Given the description of an element on the screen output the (x, y) to click on. 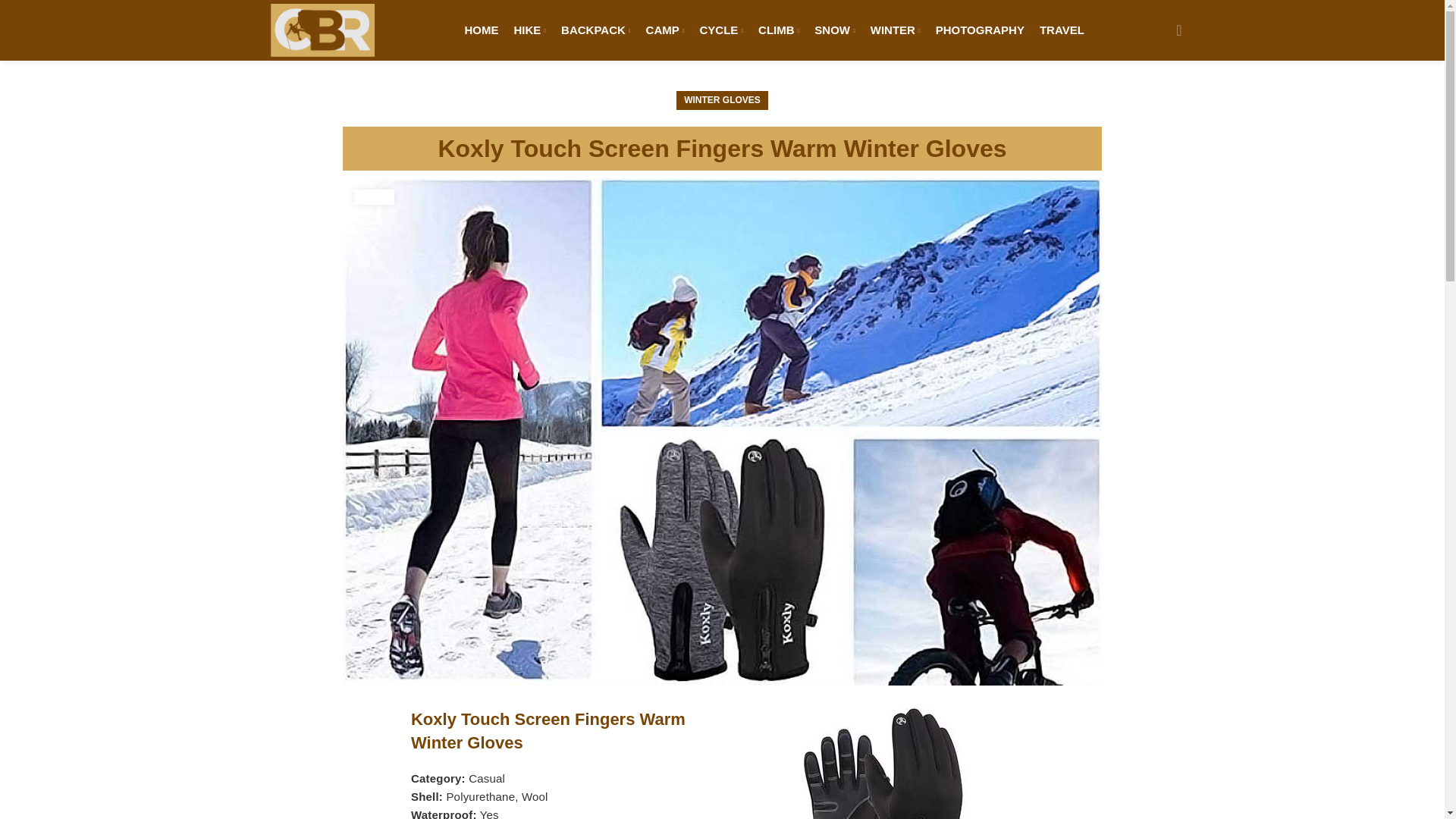
BACKPACK (595, 30)
TRAVEL (1061, 30)
HOME (481, 30)
PHOTOGRAPHY (980, 30)
HIKE (530, 30)
Koxly-Touch-Screen-Fingers-Warm-Winter-Gloves1 (883, 763)
CYCLE (722, 30)
CLIMB (778, 30)
SNOW (833, 30)
WINTER (895, 30)
CAMP (665, 30)
